Given the description of an element on the screen output the (x, y) to click on. 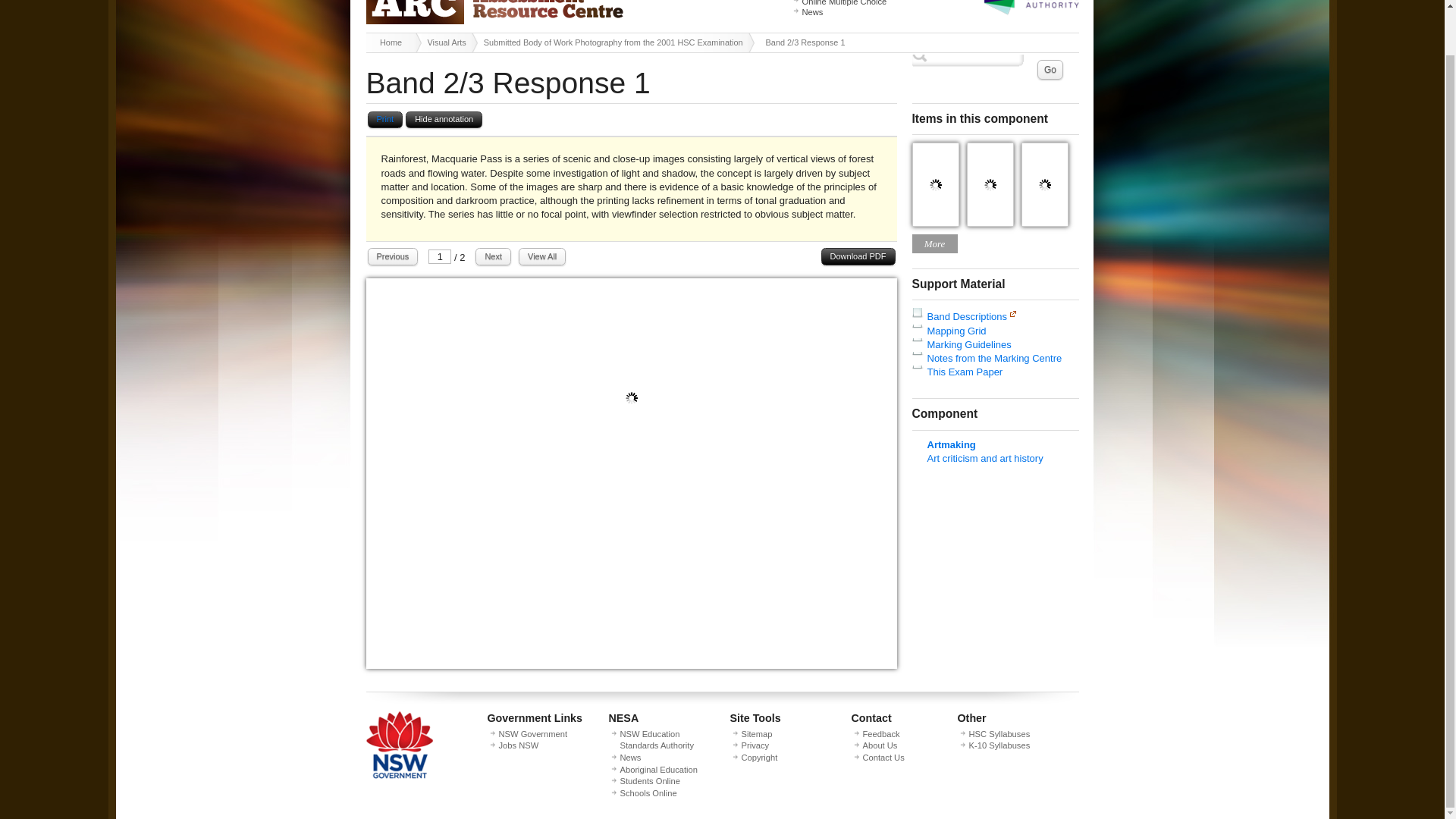
Visual Arts (449, 42)
News (813, 11)
Next (493, 256)
Mapping Grid (955, 330)
Marking Guidelines (968, 344)
Previous (391, 256)
1 (439, 256)
Band Descriptions (966, 316)
View All (542, 256)
Download PDF (858, 256)
Download PDF (858, 256)
Online Multiple Choice (844, 2)
Hide annotation (443, 119)
Page 1 (630, 665)
